Given the description of an element on the screen output the (x, y) to click on. 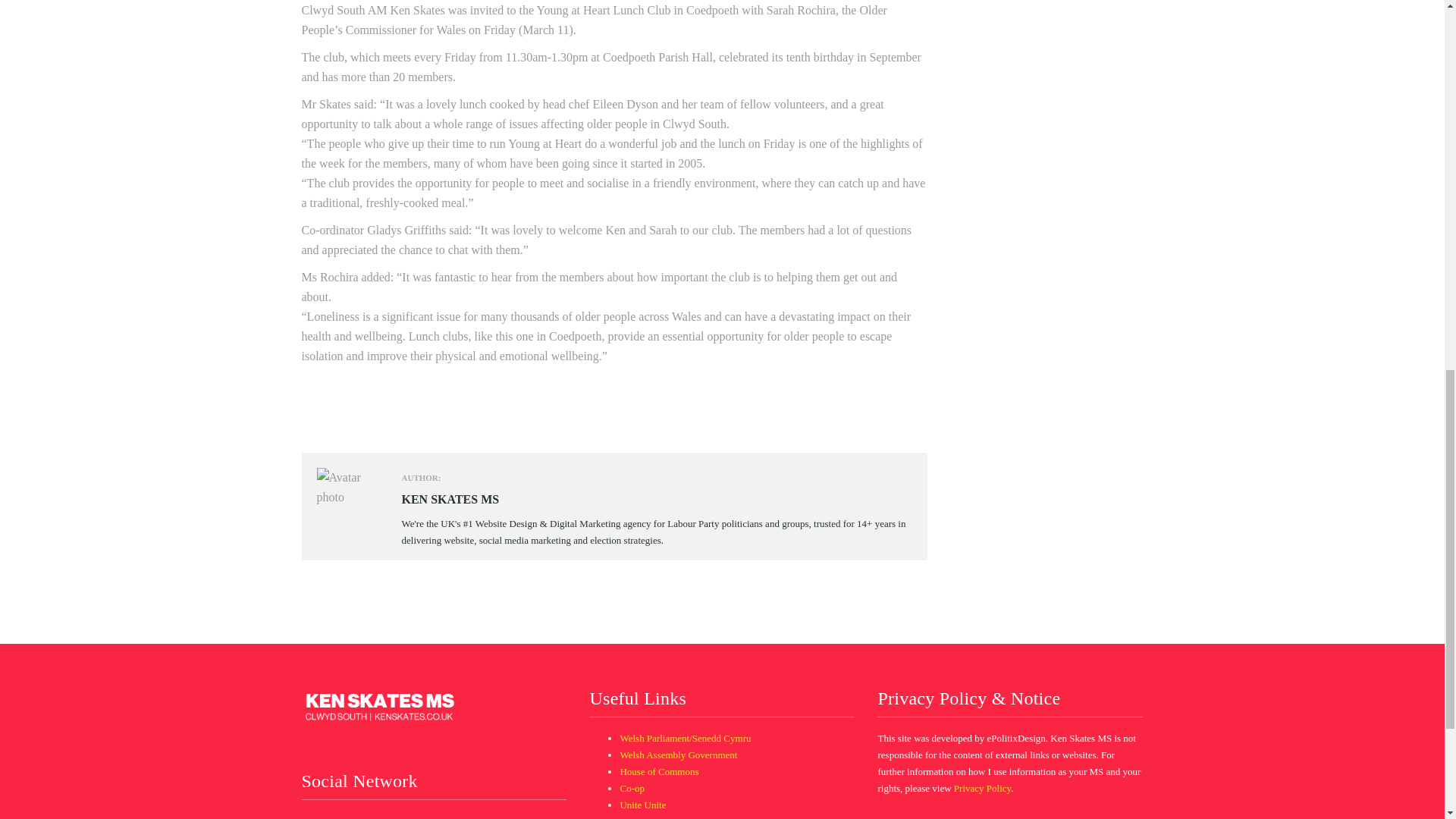
Unite Unite (642, 804)
House of Commons (659, 771)
Welsh Assembly Government (678, 754)
Privacy Policy (981, 787)
GMB (631, 817)
Co-op (632, 787)
